Given the description of an element on the screen output the (x, y) to click on. 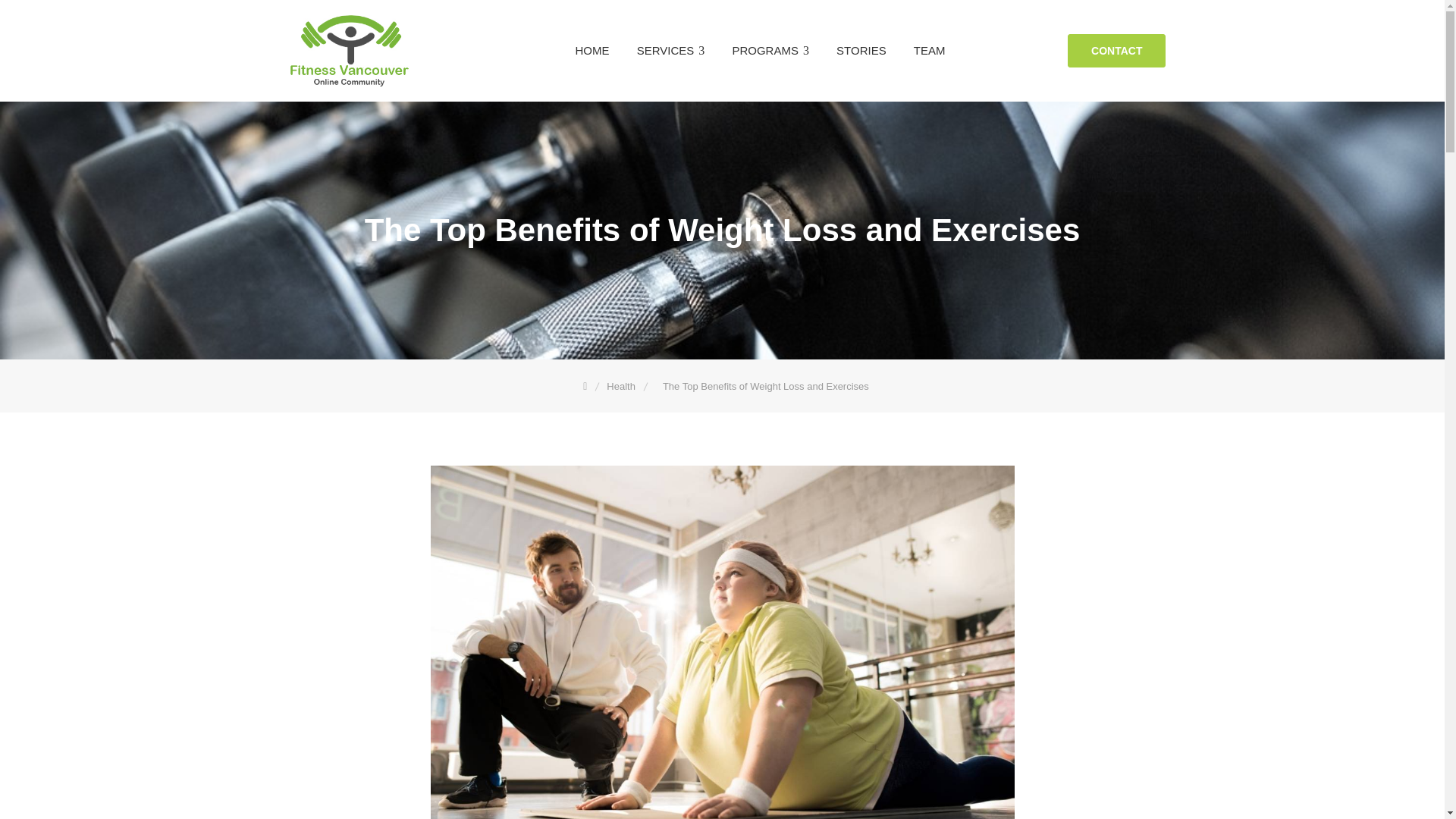
SERVICES (670, 50)
Home (585, 386)
CONTACT (1116, 50)
STORIES (861, 50)
TEAM (929, 50)
PROGRAMS (770, 50)
HOME (591, 50)
Health (622, 386)
